Given the description of an element on the screen output the (x, y) to click on. 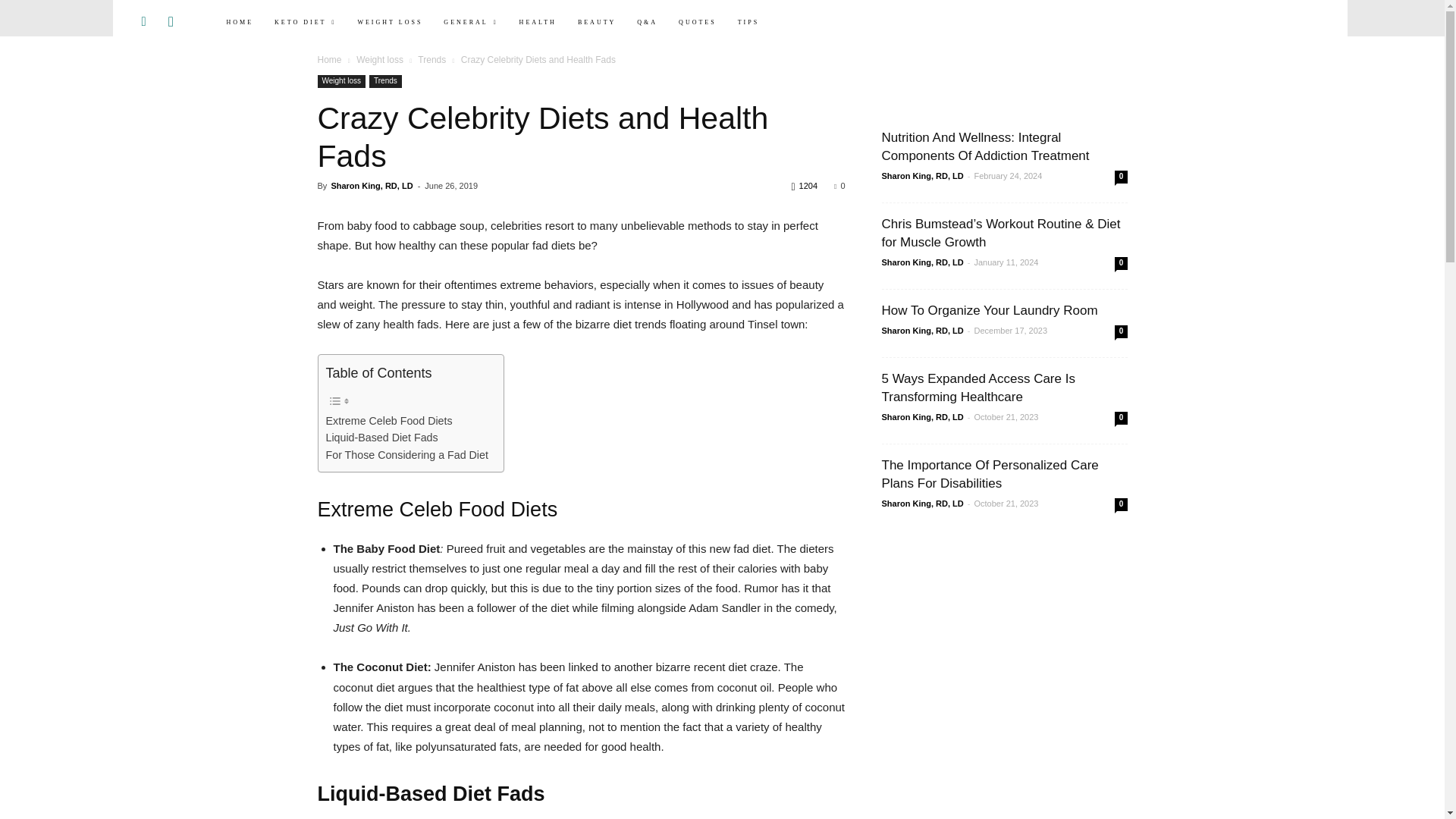
View all posts in Trends (431, 59)
View all posts in Weight loss (379, 59)
For Those Considering a Fad Diet (406, 455)
Extreme Celeb Food Diets (389, 420)
Liquid-Based Diet Fads (382, 437)
